Given the description of an element on the screen output the (x, y) to click on. 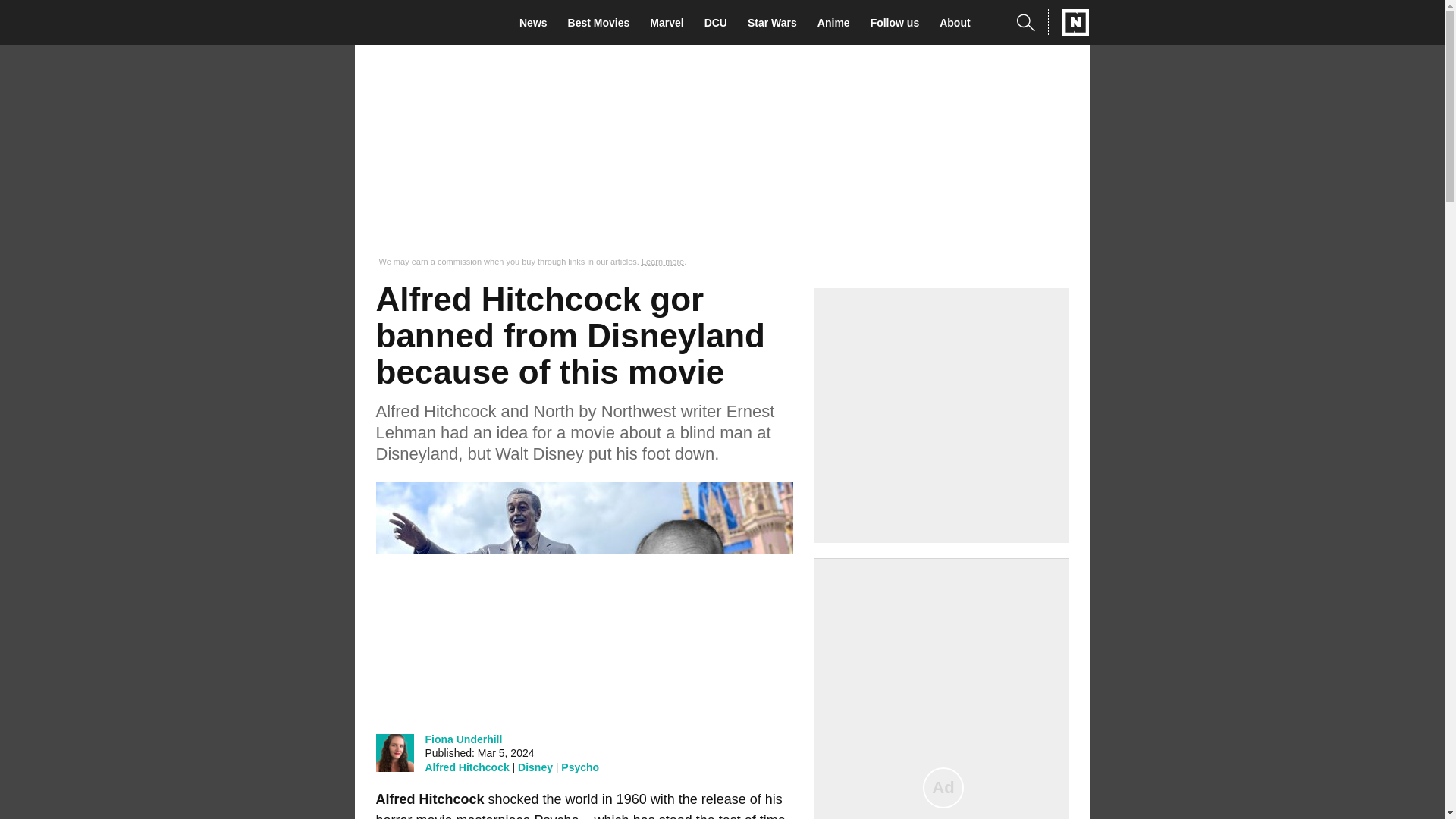
Marvel Cinematic Universe News (671, 22)
Disney (535, 767)
Fiona Underhill (463, 739)
Star Wars (777, 22)
Best Movies (603, 22)
The Digital Fix (424, 22)
Network N Media (1068, 22)
Alfred Hitchcock (466, 767)
Learn more (663, 261)
Anime News (837, 22)
